Given the description of an element on the screen output the (x, y) to click on. 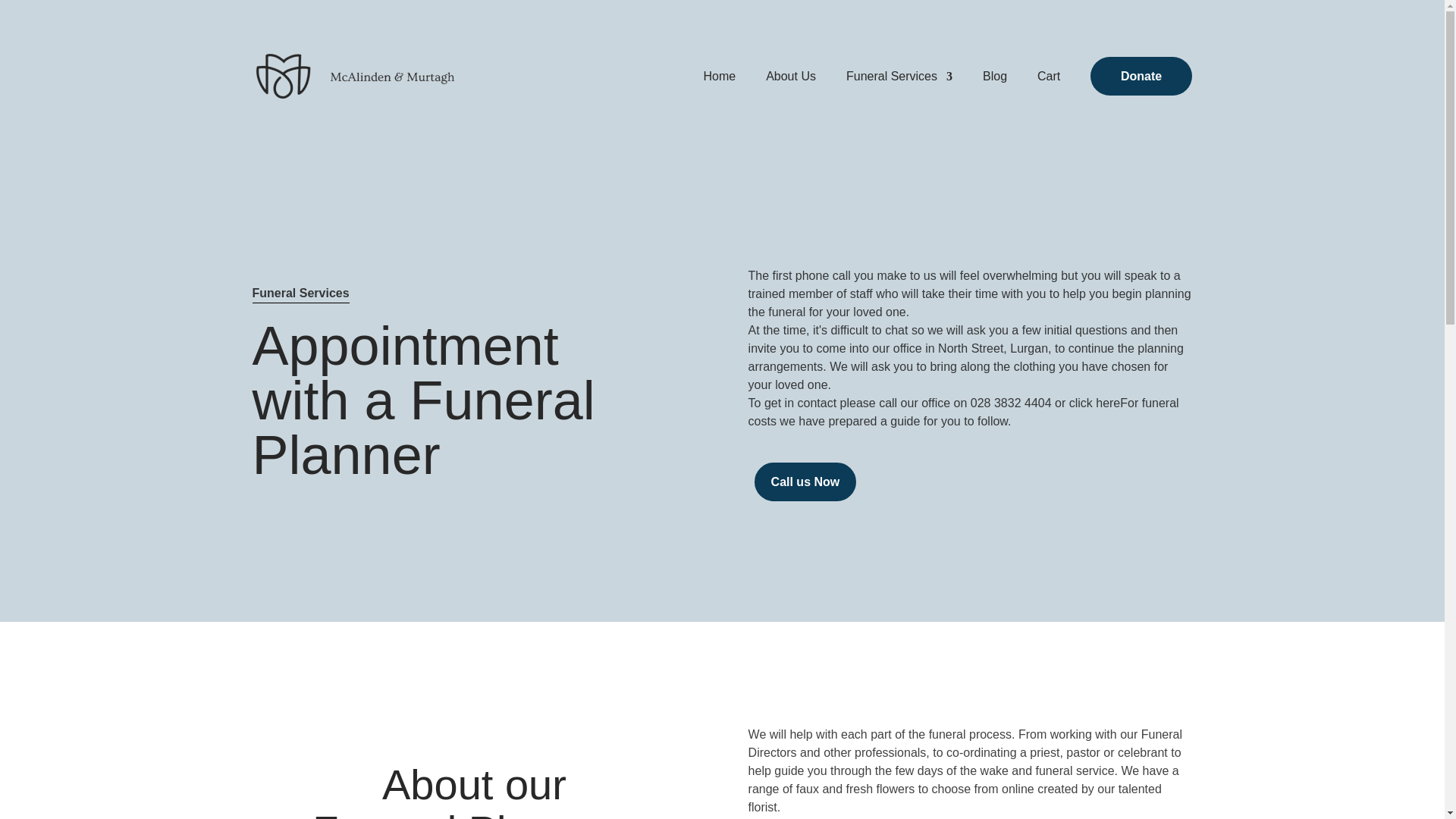
Submit (589, 569)
Donate (1141, 75)
Call us Now (805, 481)
Funeral Services (898, 109)
